Given the description of an element on the screen output the (x, y) to click on. 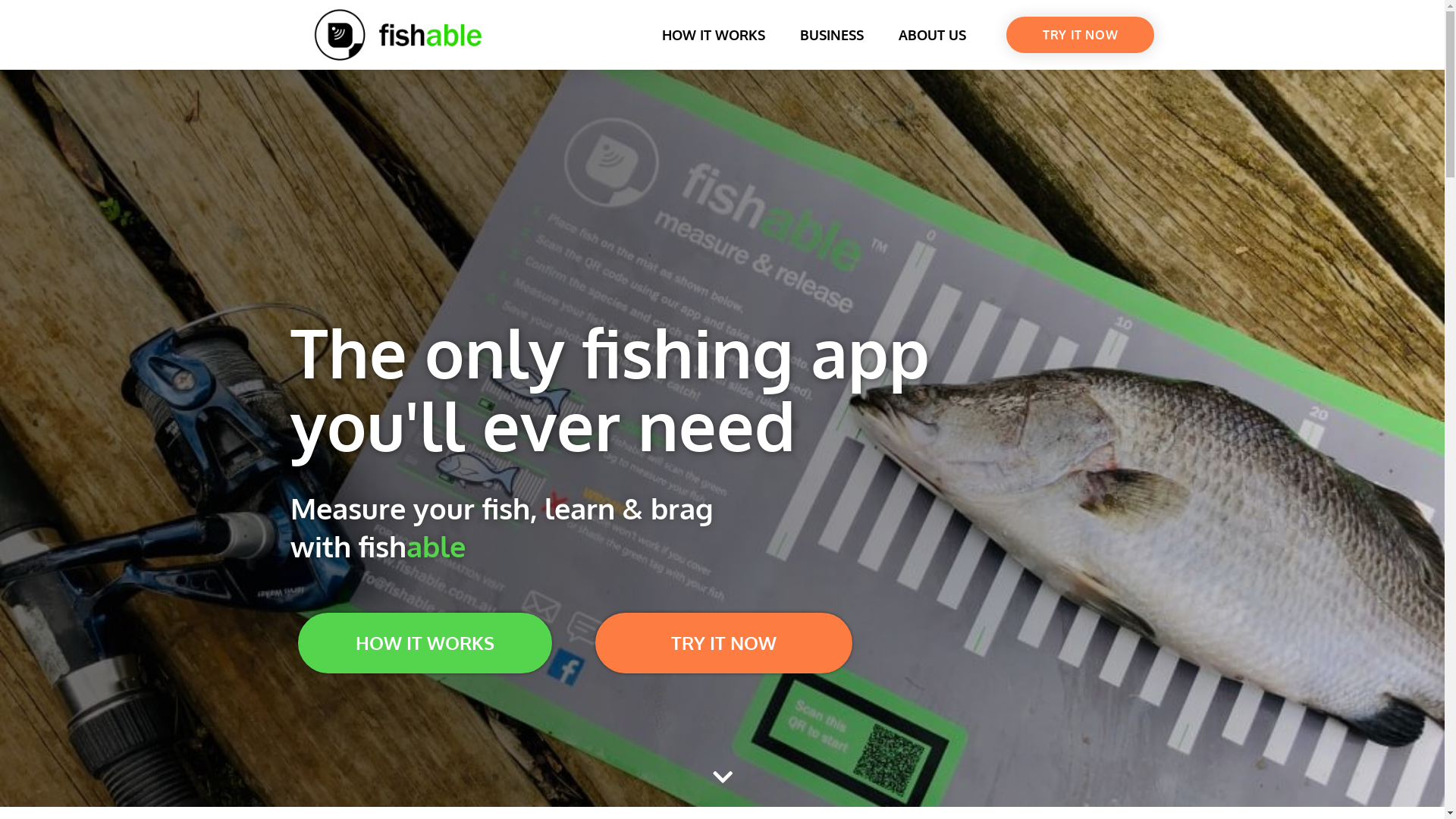
ABOUT US Element type: text (932, 34)
BUSINESS Element type: text (831, 34)
TRY IT NOW Element type: text (722, 642)
HOW IT WORKS Element type: text (713, 34)
TRY IT NOW Element type: text (1080, 34)
HOW IT WORKS Element type: text (424, 642)
Skip to content Element type: text (15, 7)
